Given the description of an element on the screen output the (x, y) to click on. 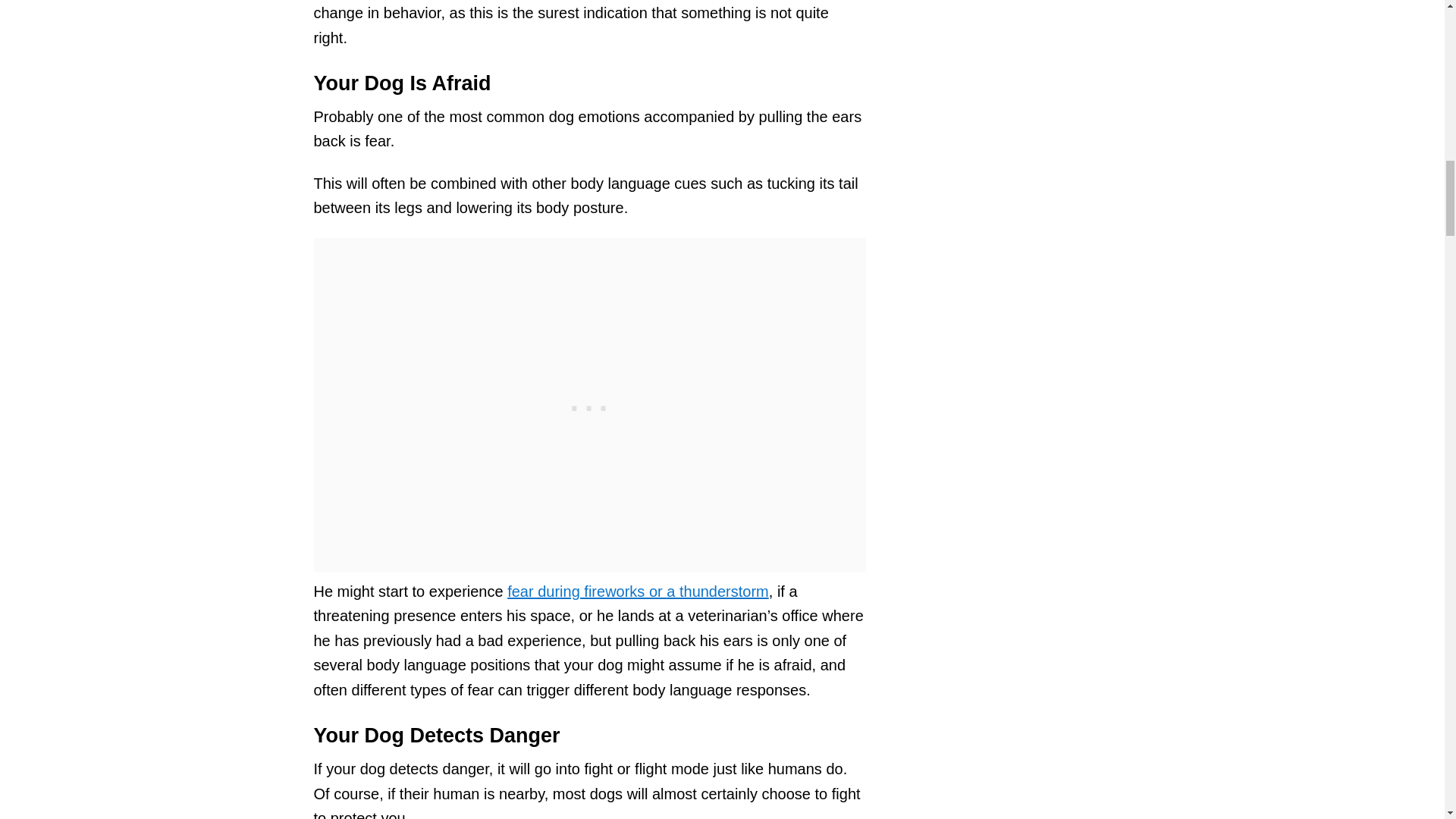
fear during fireworks or a thunderstorm (637, 591)
